Given the description of an element on the screen output the (x, y) to click on. 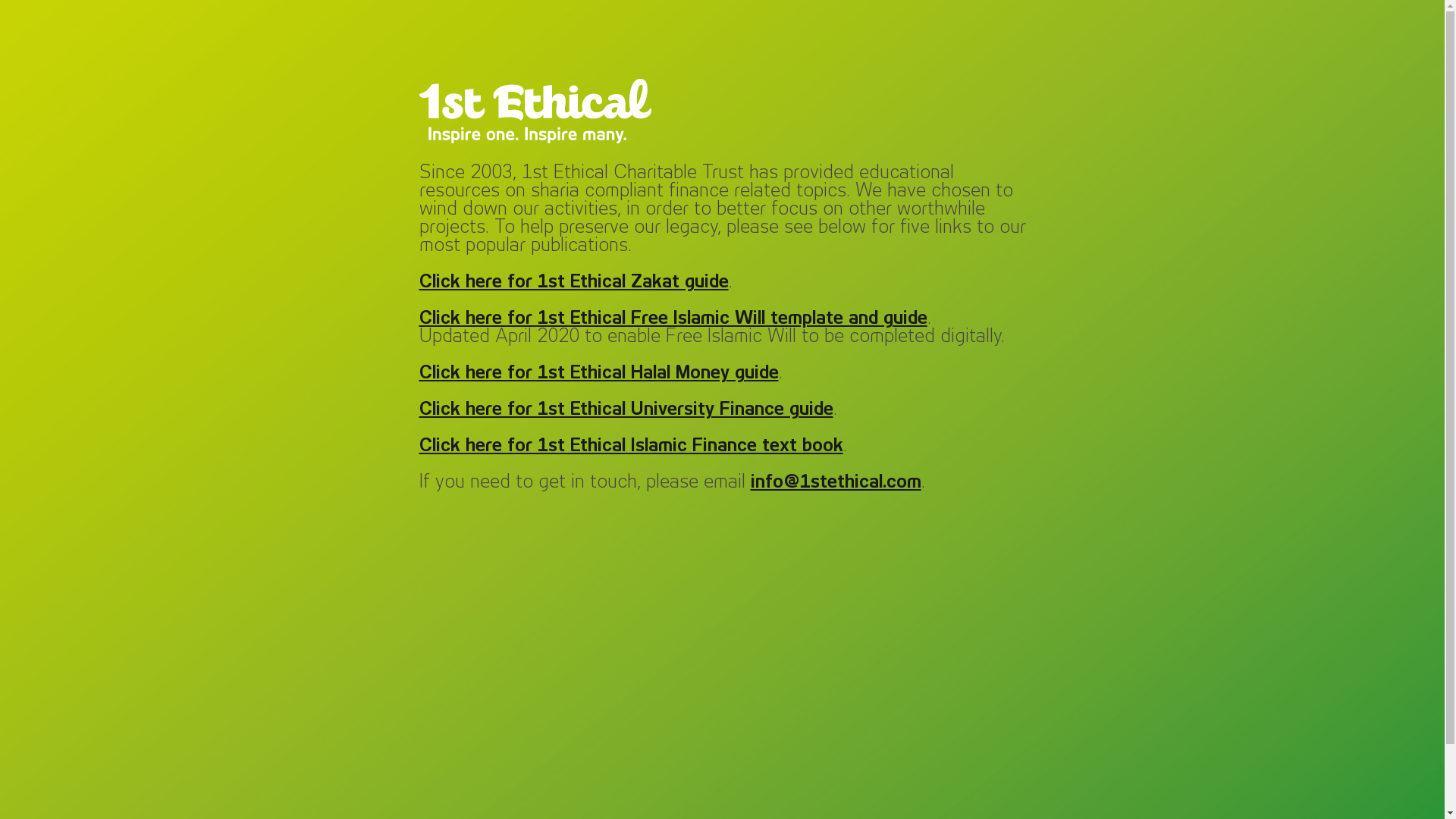
info@1stethical.com Element type: text (835, 482)
Click here for 1st Ethical Zakat guide Element type: text (573, 282)
Click here for 1st Ethical Islamic Finance text book Element type: text (630, 446)
Click here for 1st Ethical Halal Money guide Element type: text (598, 373)
Click here for 1st Ethical University Finance guide Element type: text (625, 409)
